Given the description of an element on the screen output the (x, y) to click on. 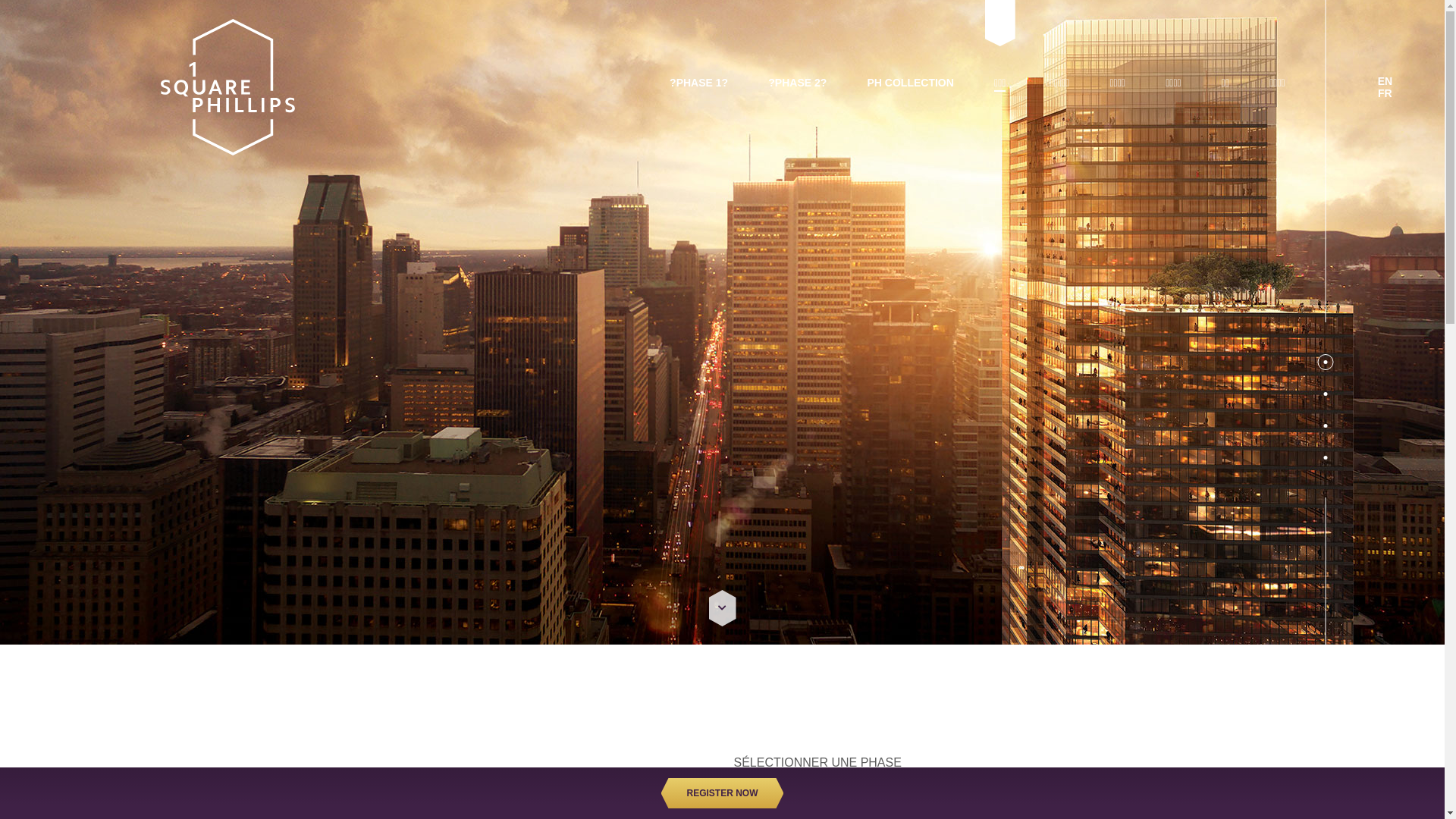
?PHASE 2? Element type: text (797, 82)
?PHASE 1? Element type: text (698, 82)
FR Element type: text (1384, 93)
EN Element type: text (1384, 81)
REGISTER NOW Element type: text (722, 793)
PH COLLECTION Element type: text (910, 82)
